Given the description of an element on the screen output the (x, y) to click on. 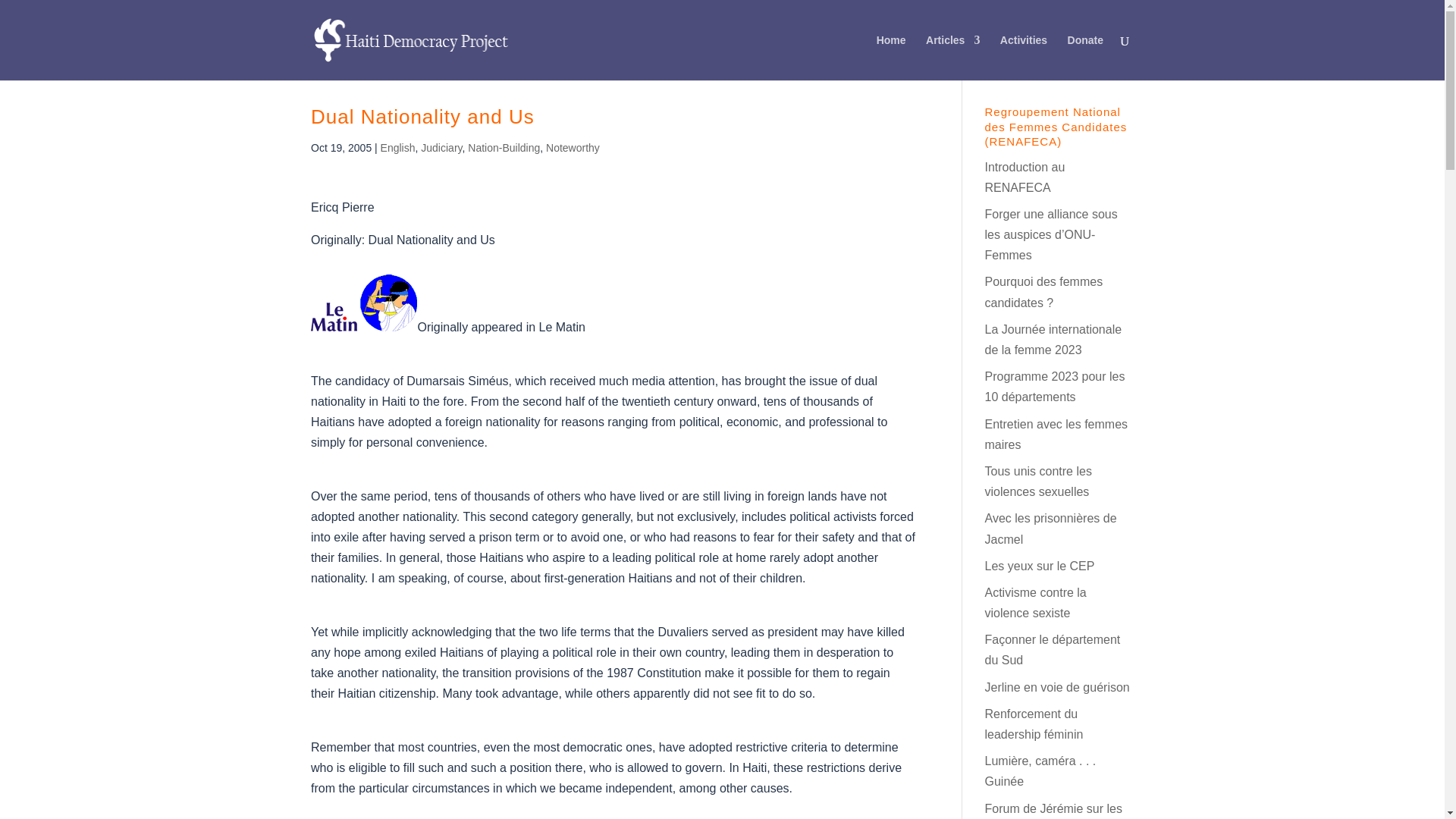
Meet These Brave Women Seeking to Change Haiti (1024, 177)
Jerline on the Mend  (1056, 686)
Tous unis contre les violences sexuelles (1037, 481)
Entretien avec les femmes maires (1055, 434)
Shaping Up the Sud Department  (1051, 649)
With the women mayors (1055, 434)
Eyes on the CEP (1039, 565)
Judiciary (440, 147)
Activities (1023, 57)
With the Women Prisoners of Jacmel (1050, 528)
